Given the description of an element on the screen output the (x, y) to click on. 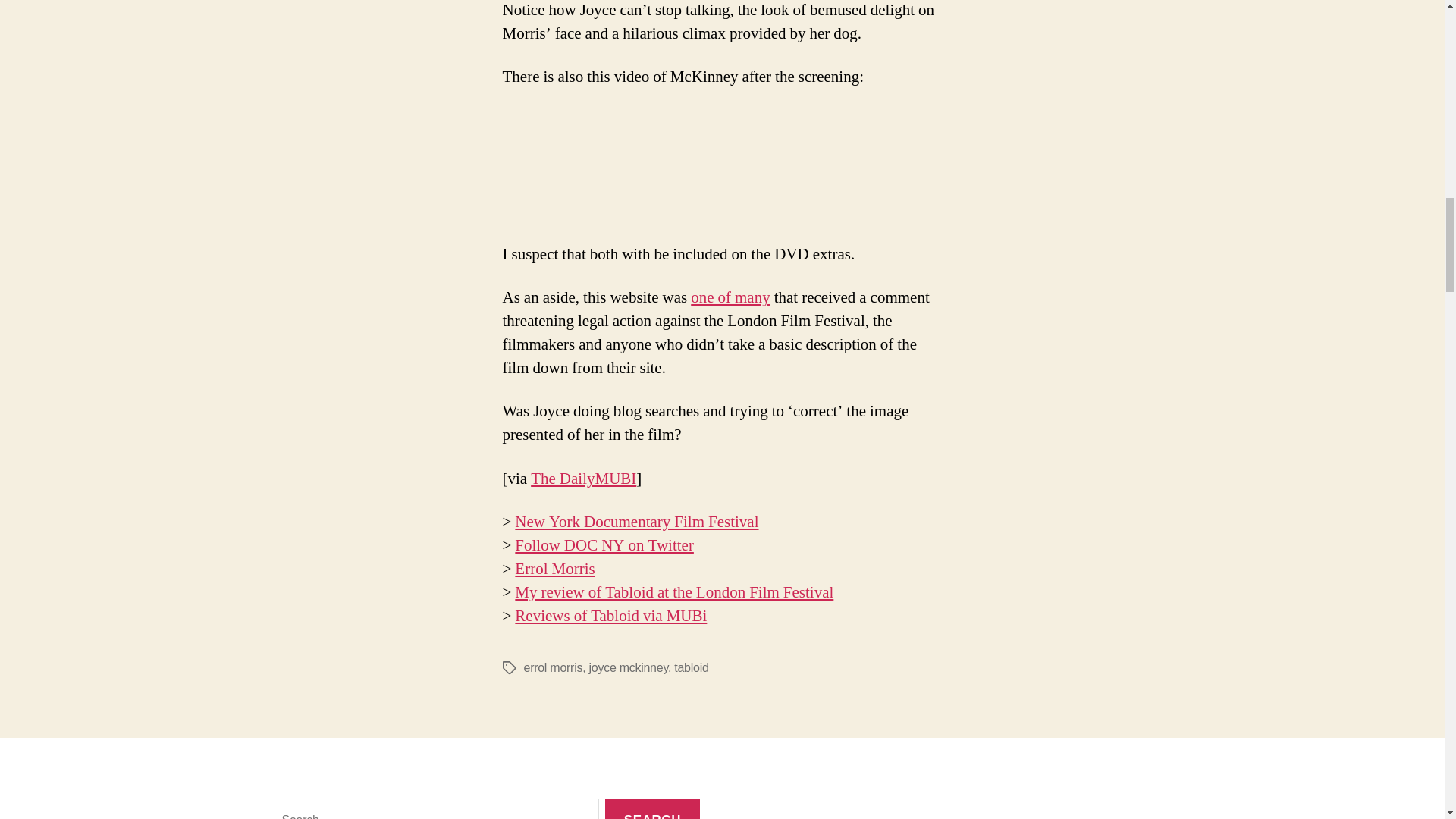
Follow DOC NY on Twitter (604, 545)
New York Documentary Film Festival (636, 521)
My review of Tabloid at the London Film Festival (673, 592)
Errol Morris (554, 568)
Search (651, 808)
errol morris (552, 667)
The DailyMUBI (583, 478)
one of many (730, 297)
joyce mckinney (628, 667)
Search (651, 808)
